Given the description of an element on the screen output the (x, y) to click on. 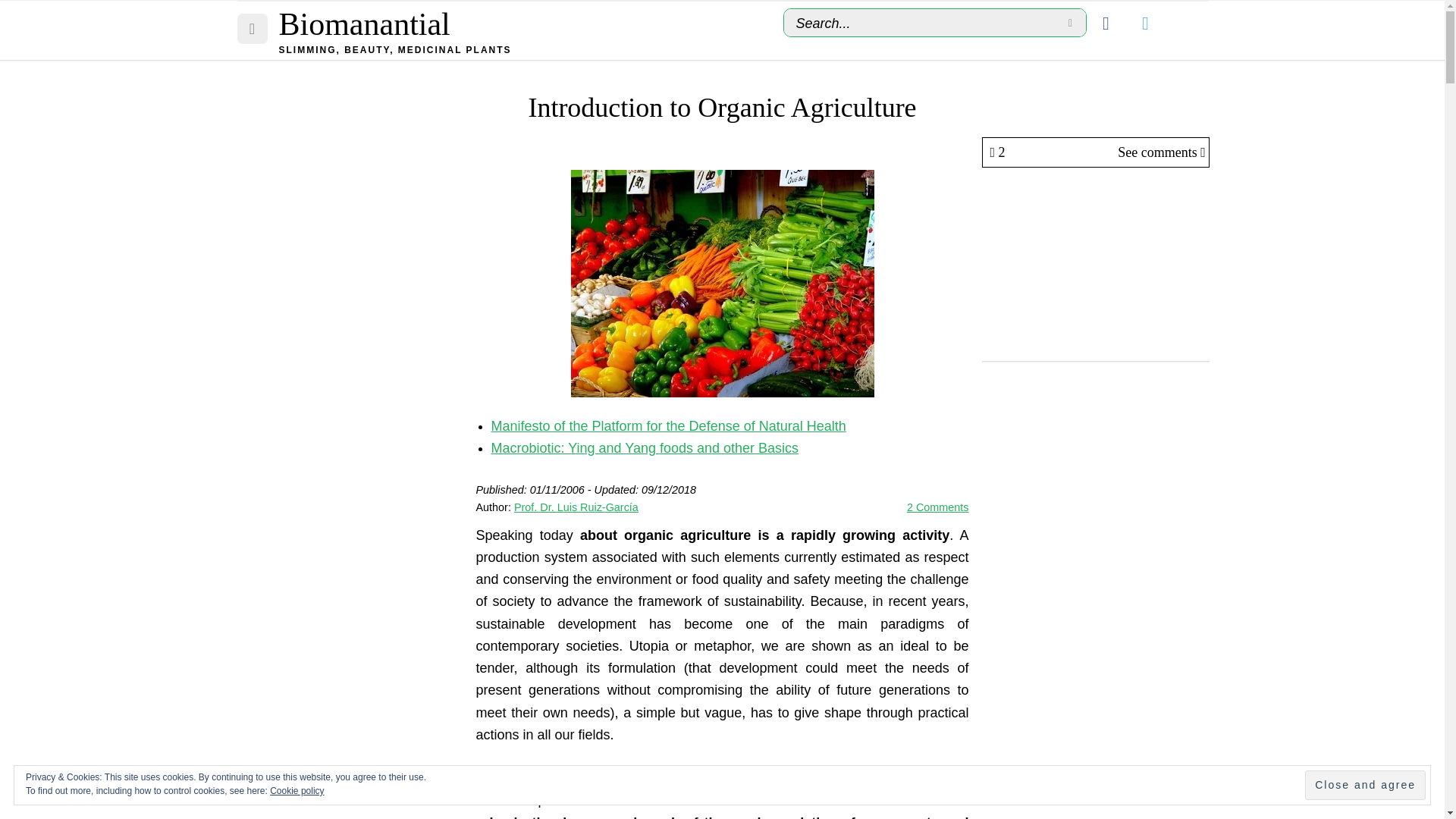
Close and agree (1364, 785)
Biomanantial (364, 23)
